Given the description of an element on the screen output the (x, y) to click on. 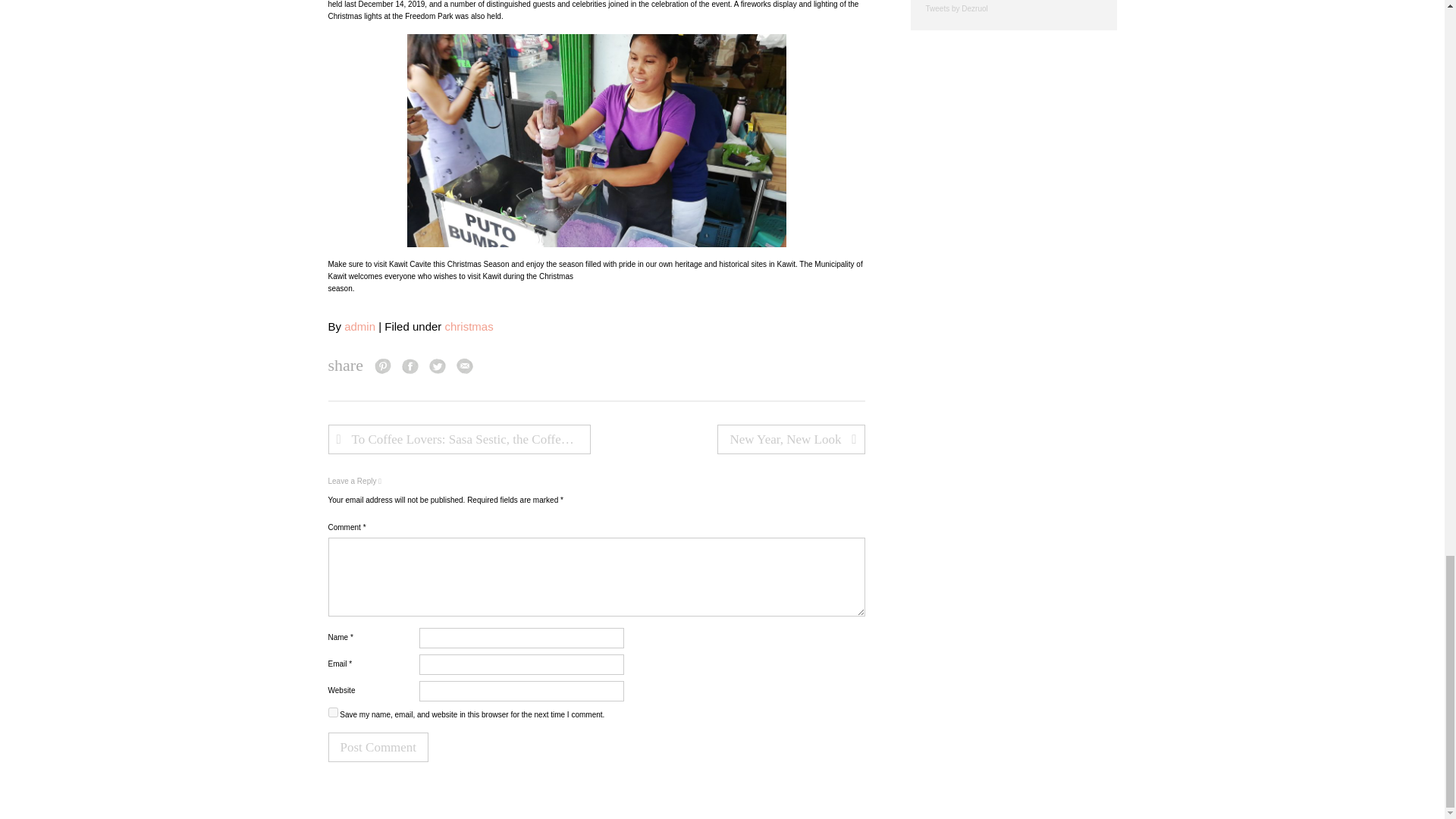
New Year, New Look (790, 439)
Tweets by Dezruol (955, 8)
Post Comment (377, 747)
christmas (468, 326)
admin (359, 326)
yes (332, 712)
Share by Email (465, 365)
Post Comment (377, 747)
